Given the description of an element on the screen output the (x, y) to click on. 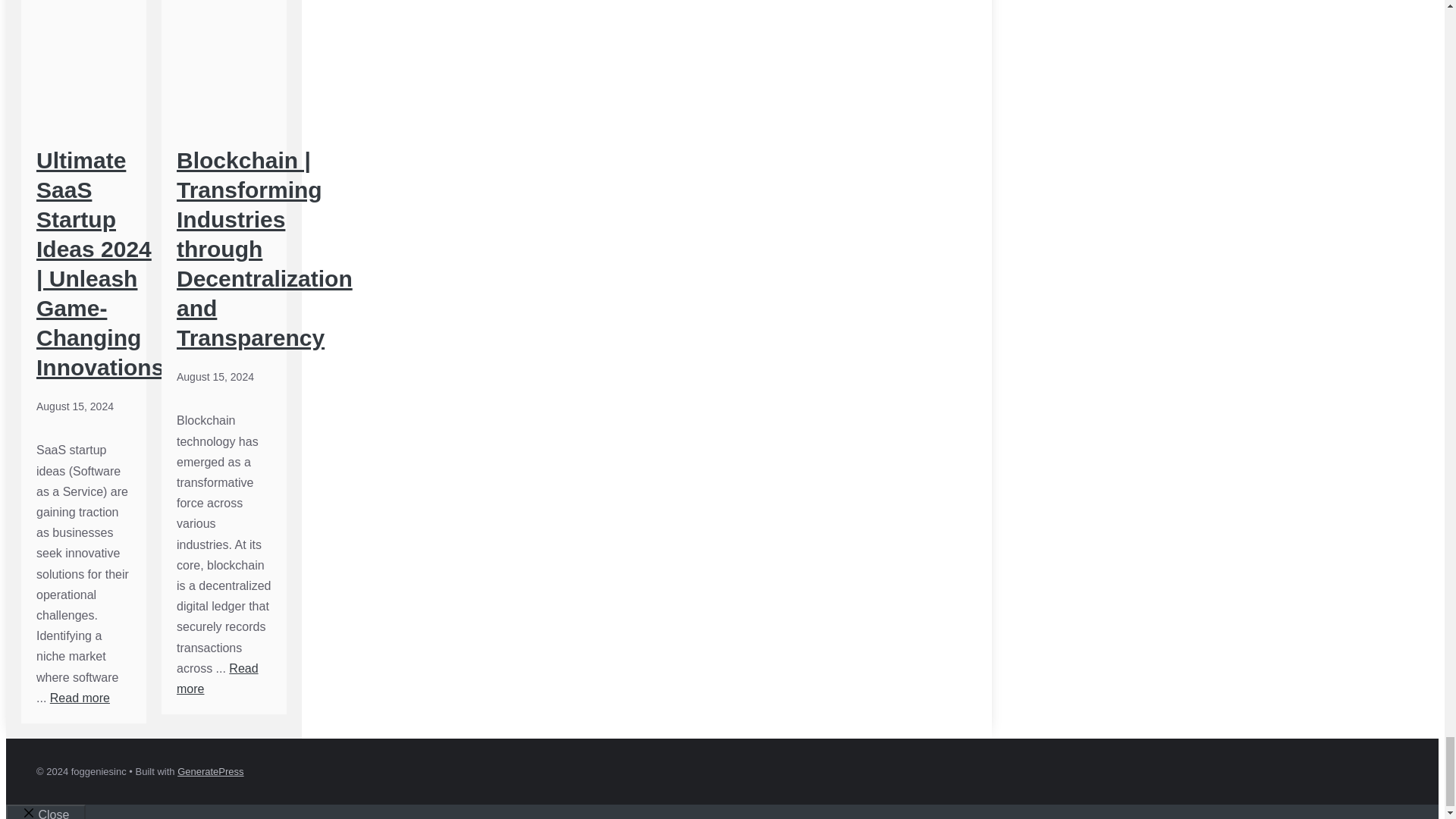
GeneratePress (210, 771)
Read more (79, 697)
Read more (217, 678)
